Given the description of an element on the screen output the (x, y) to click on. 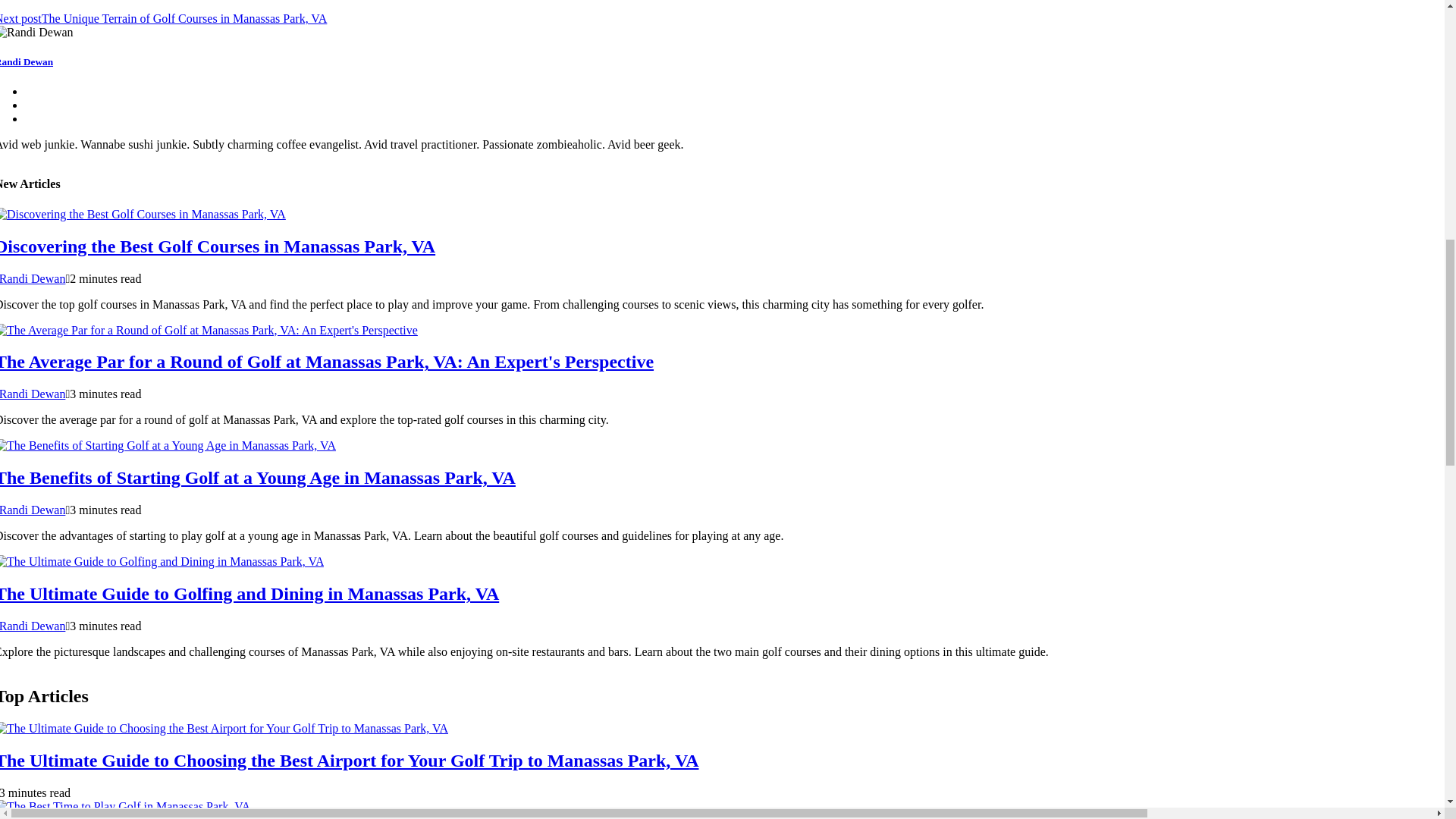
Randi Dewan (32, 509)
Randi Dewan (32, 393)
Randi Dewan (26, 61)
Discovering the Best Golf Courses in Manassas Park, VA (217, 246)
Posts by Randi Dewan (32, 278)
Posts by Randi Dewan (32, 509)
Posts by Randi Dewan (32, 393)
Randi Dewan (32, 625)
Posts by Randi Dewan (32, 625)
Randi Dewan (32, 278)
